Given the description of an element on the screen output the (x, y) to click on. 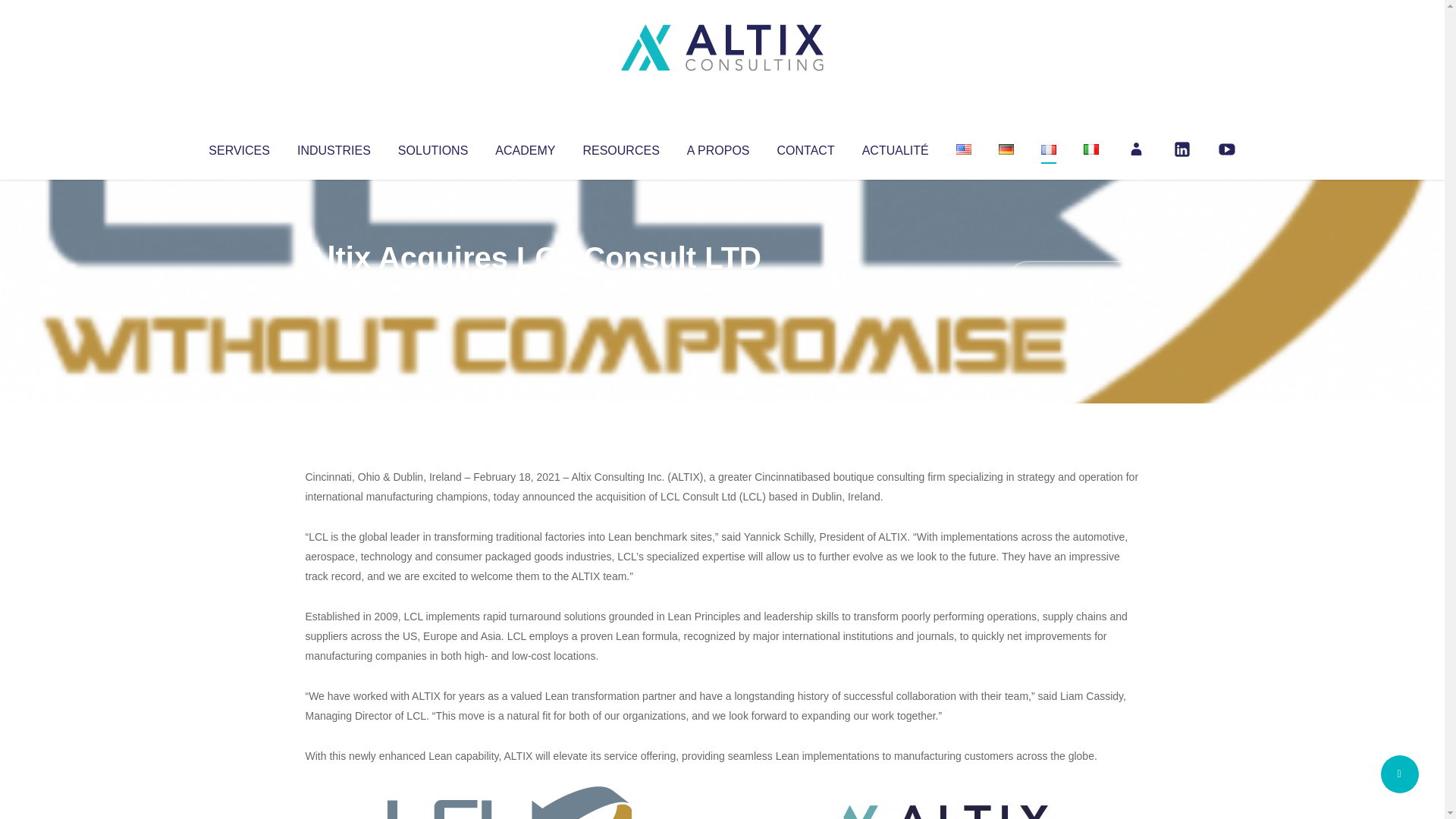
ACADEMY (524, 146)
RESOURCES (620, 146)
Altix (333, 287)
Uncategorized (530, 287)
SERVICES (238, 146)
INDUSTRIES (334, 146)
Articles par Altix (333, 287)
No Comments (1073, 278)
A PROPOS (718, 146)
SOLUTIONS (432, 146)
